Given the description of an element on the screen output the (x, y) to click on. 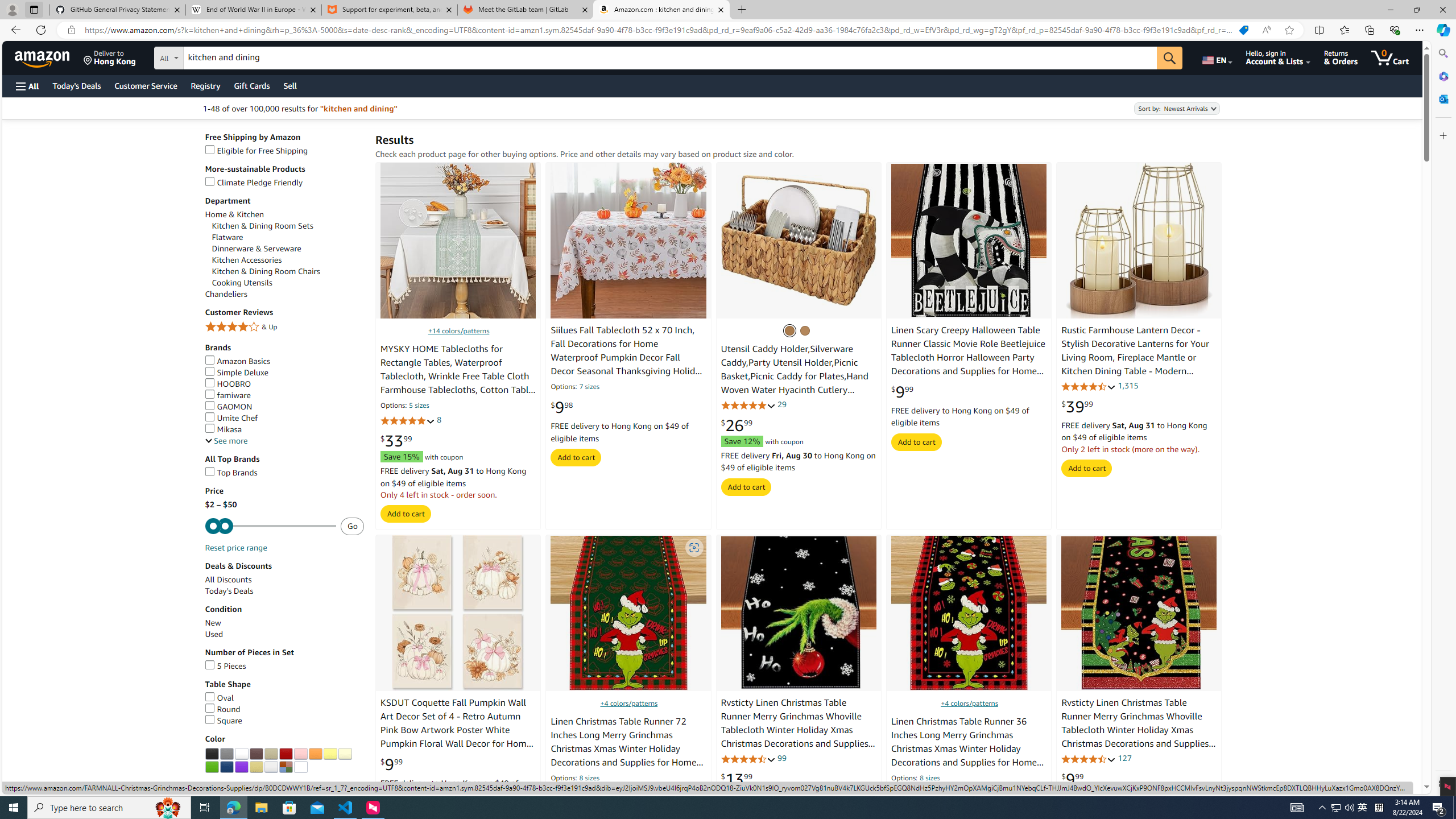
AutomationID: p_n_feature_twenty_browse-bin/3254104011 (300, 753)
Simple Deluxe (237, 372)
Skip to main search results (50, 788)
AutomationID: p_n_feature_twenty_browse-bin/3254110011 (241, 766)
Used (214, 633)
$39.99 (1077, 406)
Eligible for Free Shipping (256, 150)
1,315 (1128, 384)
Red (285, 753)
7 sizes (588, 387)
